Given the description of an element on the screen output the (x, y) to click on. 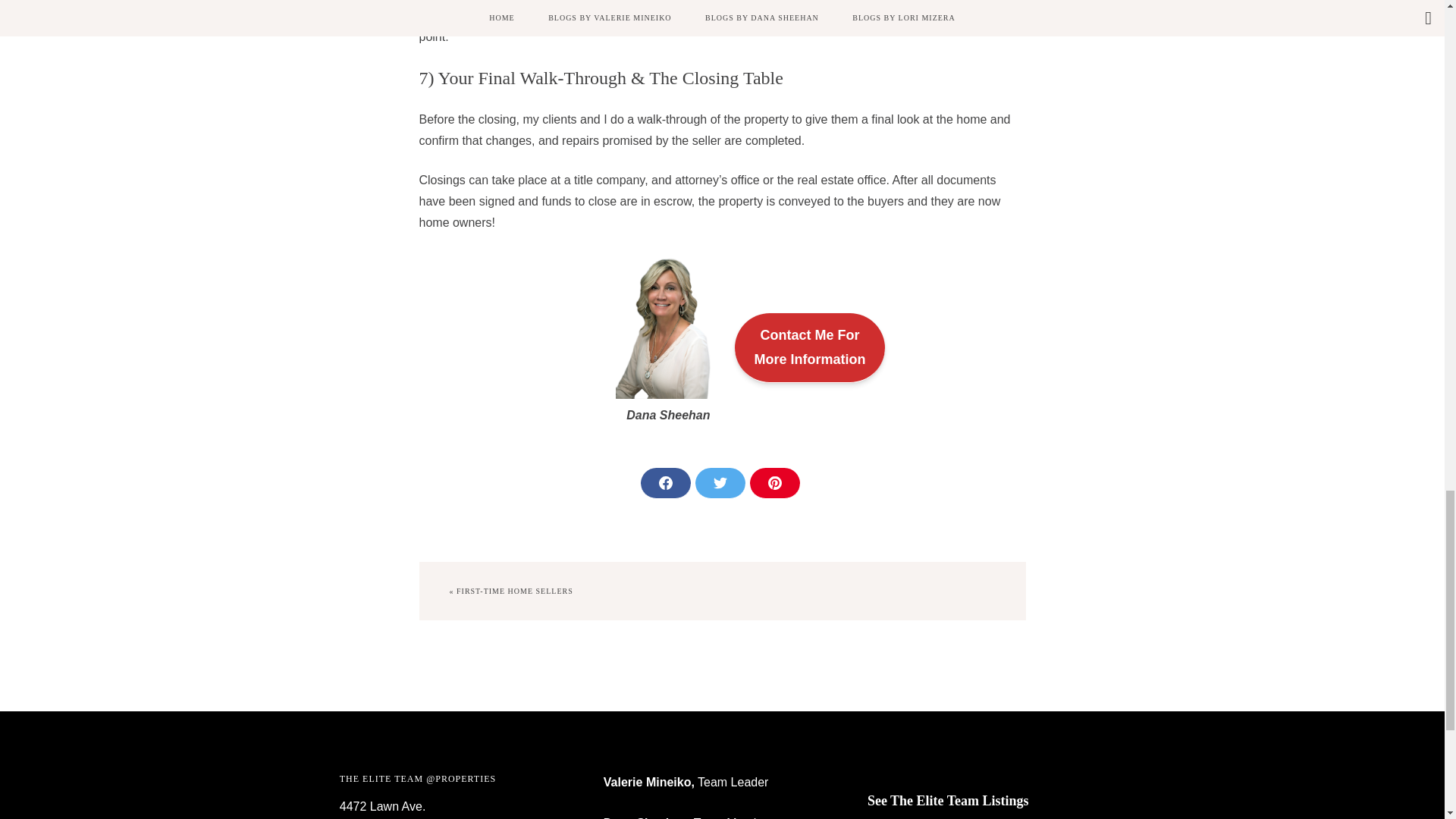
Share on Twitter (719, 482)
Dana Sheehan (645, 817)
Share on Facebook (665, 482)
Valerie Mineiko (647, 781)
Share on Twitter (809, 347)
Share on Pinterest (719, 482)
See The Elite Team Listings (774, 482)
Share on Facebook (986, 800)
Share on Pinterest (665, 482)
